Given the description of an element on the screen output the (x, y) to click on. 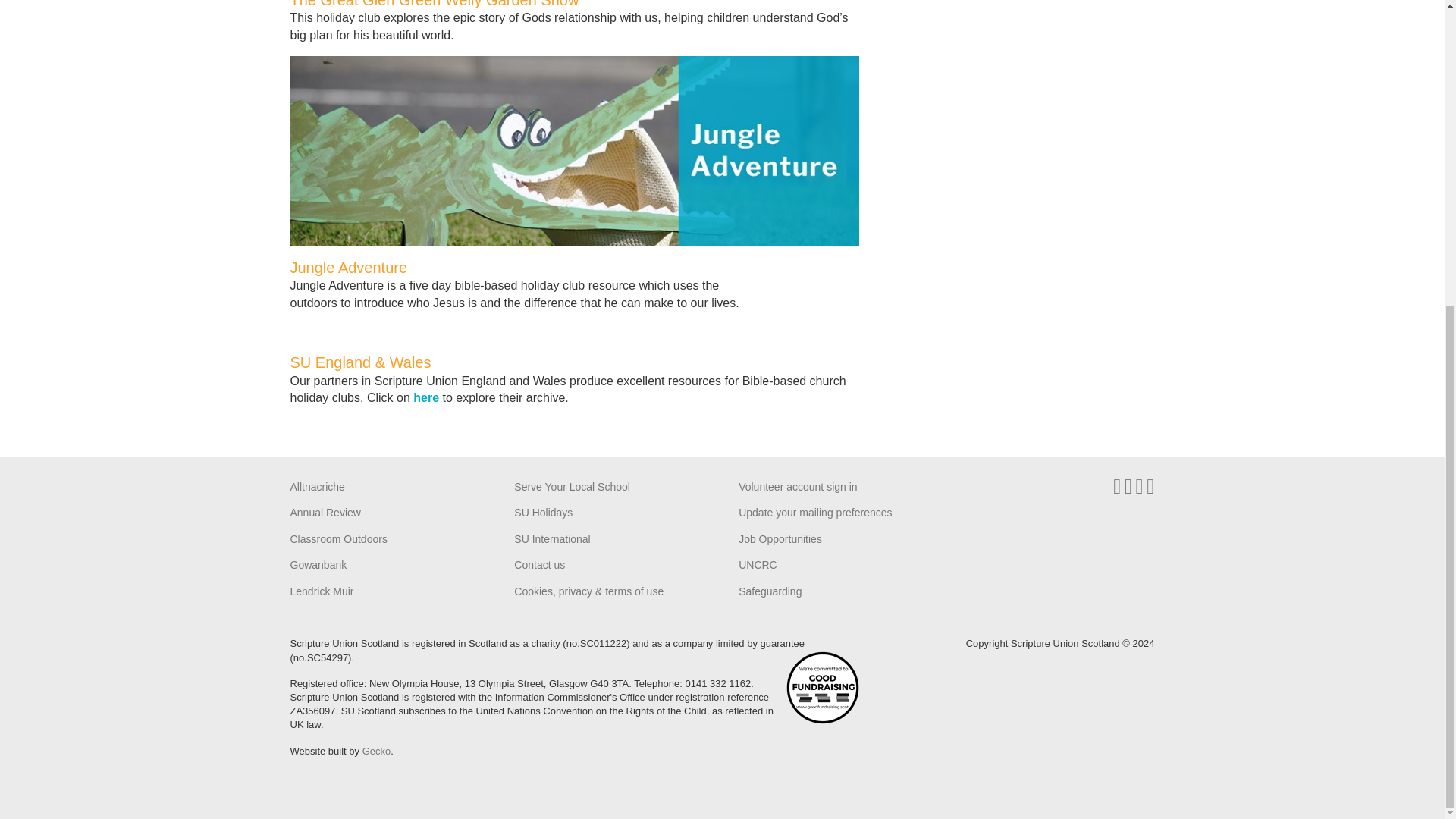
Jungle Adventure Holiday Club (574, 149)
